Given the description of an element on the screen output the (x, y) to click on. 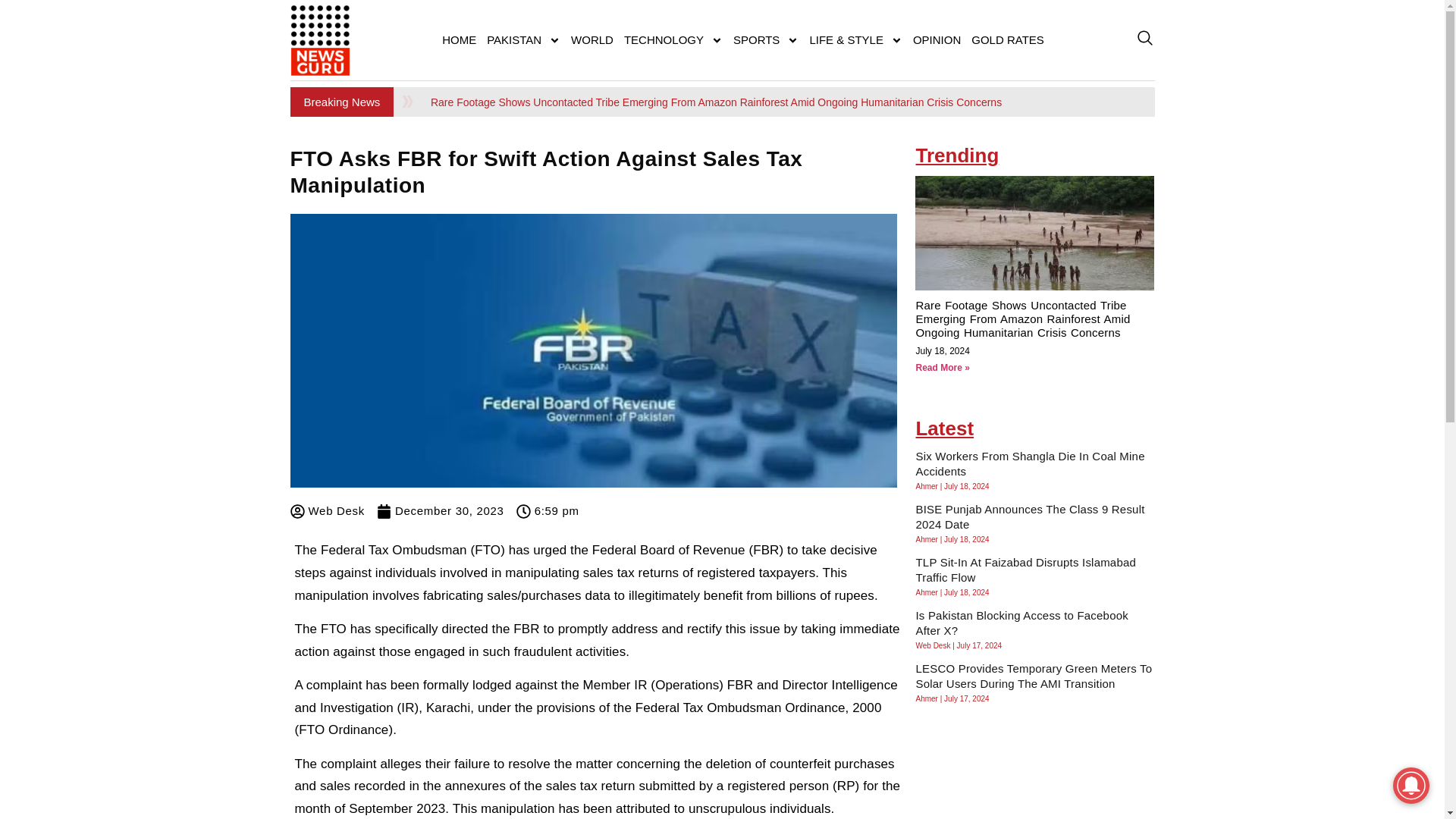
GOLD RATES (1007, 39)
SPORTS (765, 39)
HOME (458, 39)
WORLD (592, 39)
OPINION (936, 39)
TECHNOLOGY (673, 39)
PAKISTAN (523, 39)
